Given the description of an element on the screen output the (x, y) to click on. 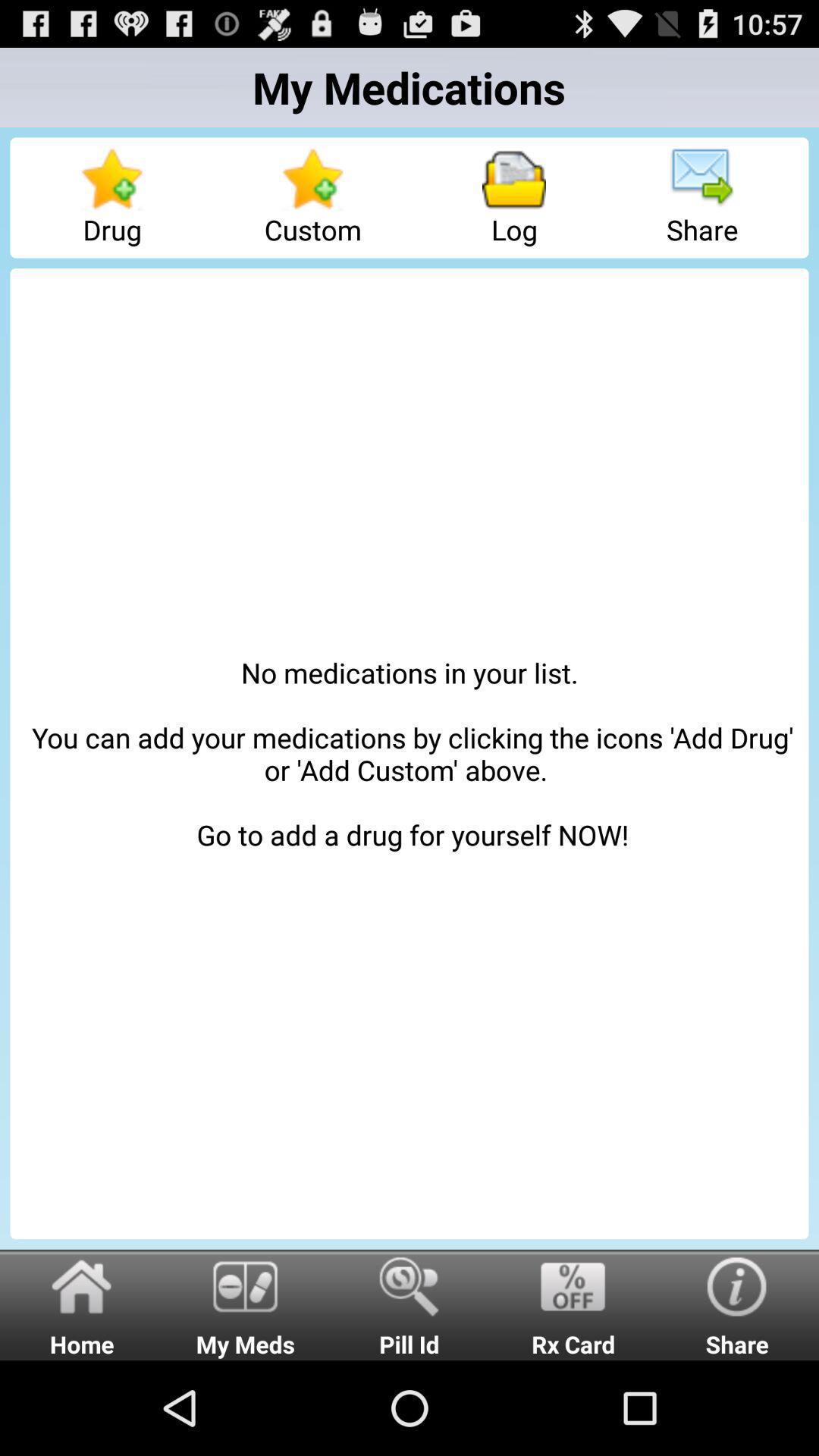
scroll to the home item (81, 1304)
